Given the description of an element on the screen output the (x, y) to click on. 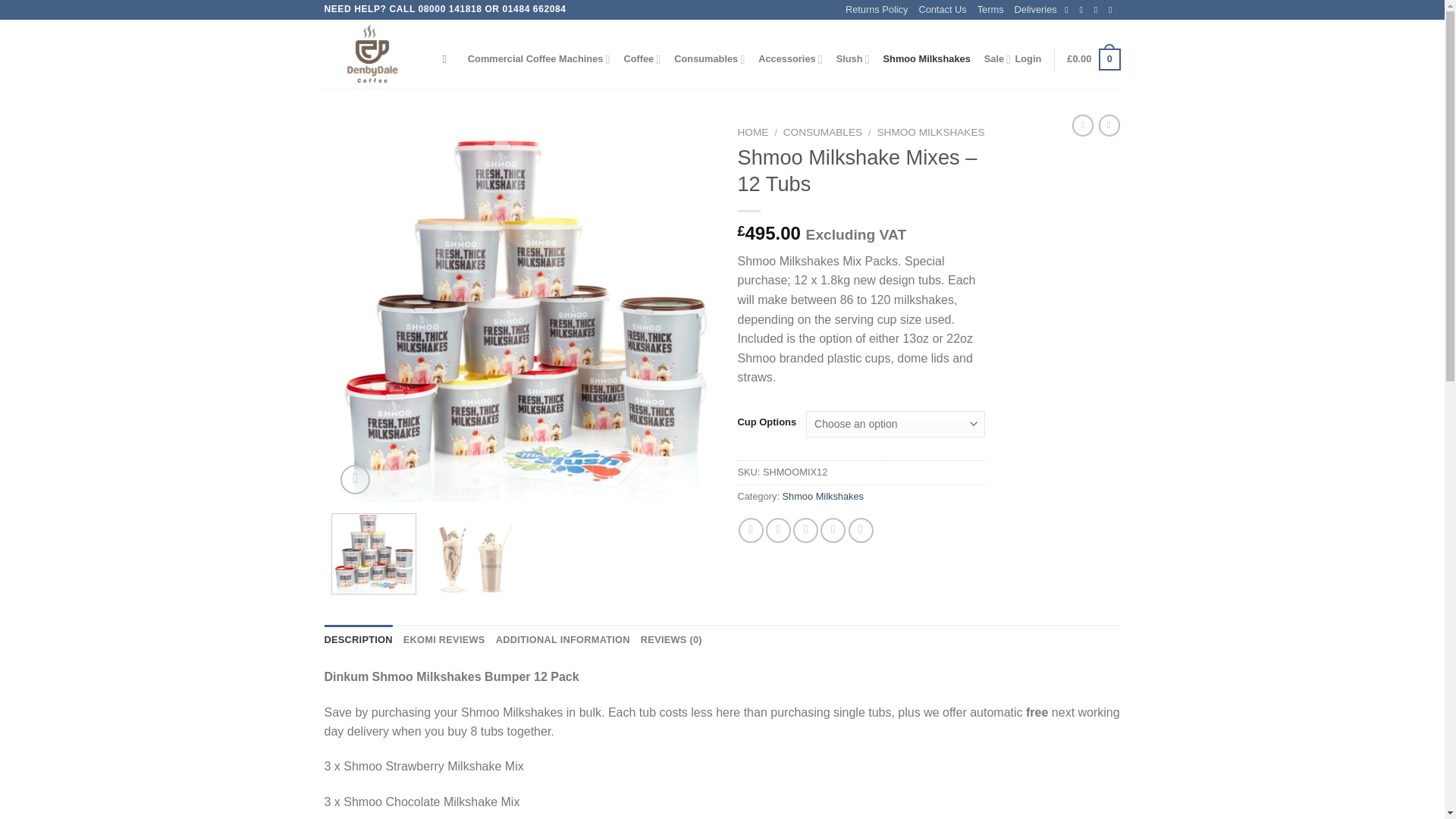
Consumables (709, 59)
Accessories (790, 59)
Share on Facebook (750, 529)
Denby Dale Coffee - Commercial Coffee Machines and Supplies (372, 54)
Basket (1093, 59)
Deliveries (1035, 9)
Coffee (642, 59)
Contact Us (942, 9)
Terms (990, 9)
Returns Policy (876, 9)
Zoom (354, 479)
Commercial Coffee Machines (538, 59)
Share on Twitter (777, 529)
